Given the description of an element on the screen output the (x, y) to click on. 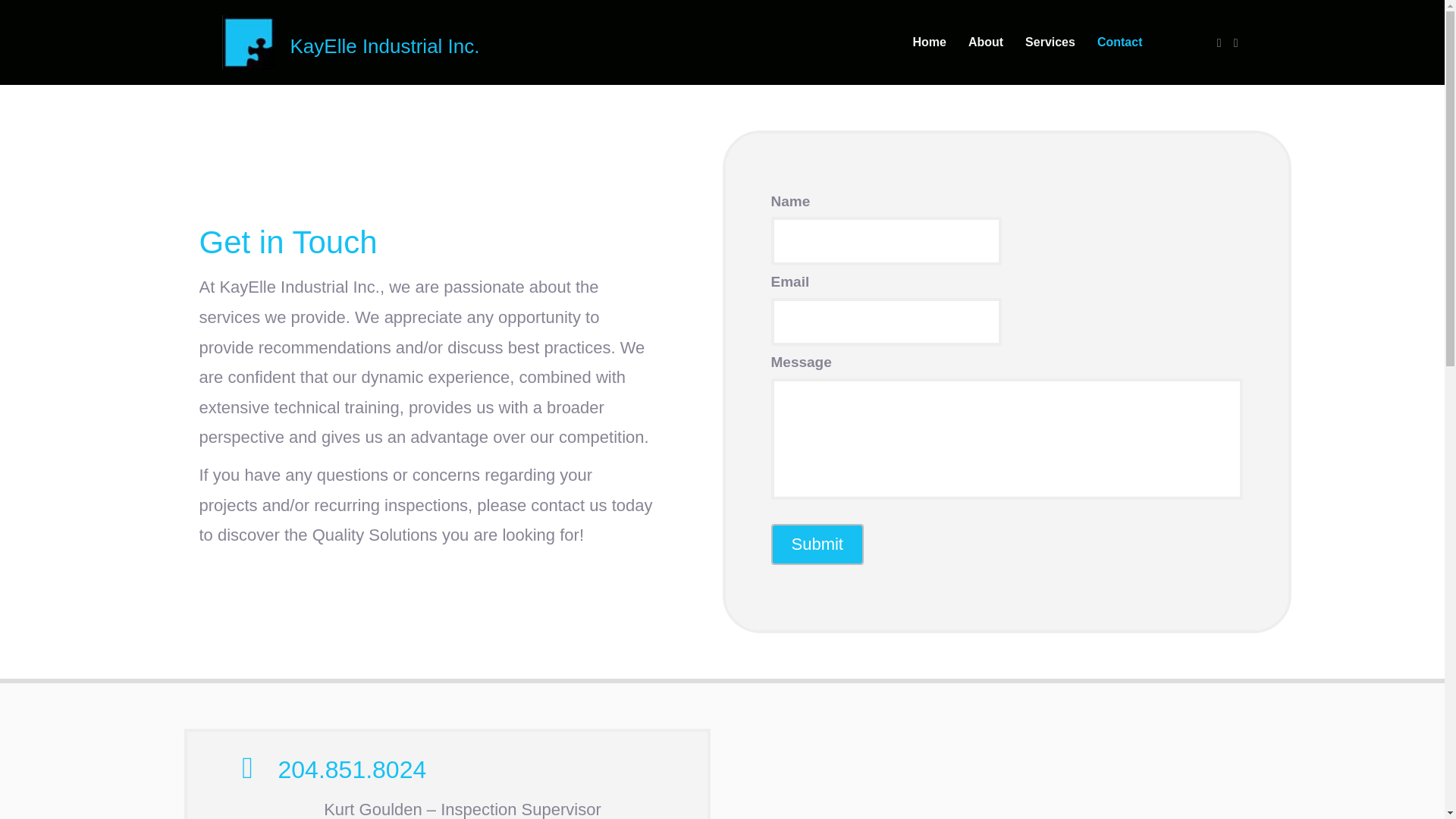
About (985, 41)
Submit (816, 544)
Submit (816, 544)
Home (928, 41)
Contact (1119, 41)
Services (1050, 41)
logopuzzle (248, 42)
